Given the description of an element on the screen output the (x, y) to click on. 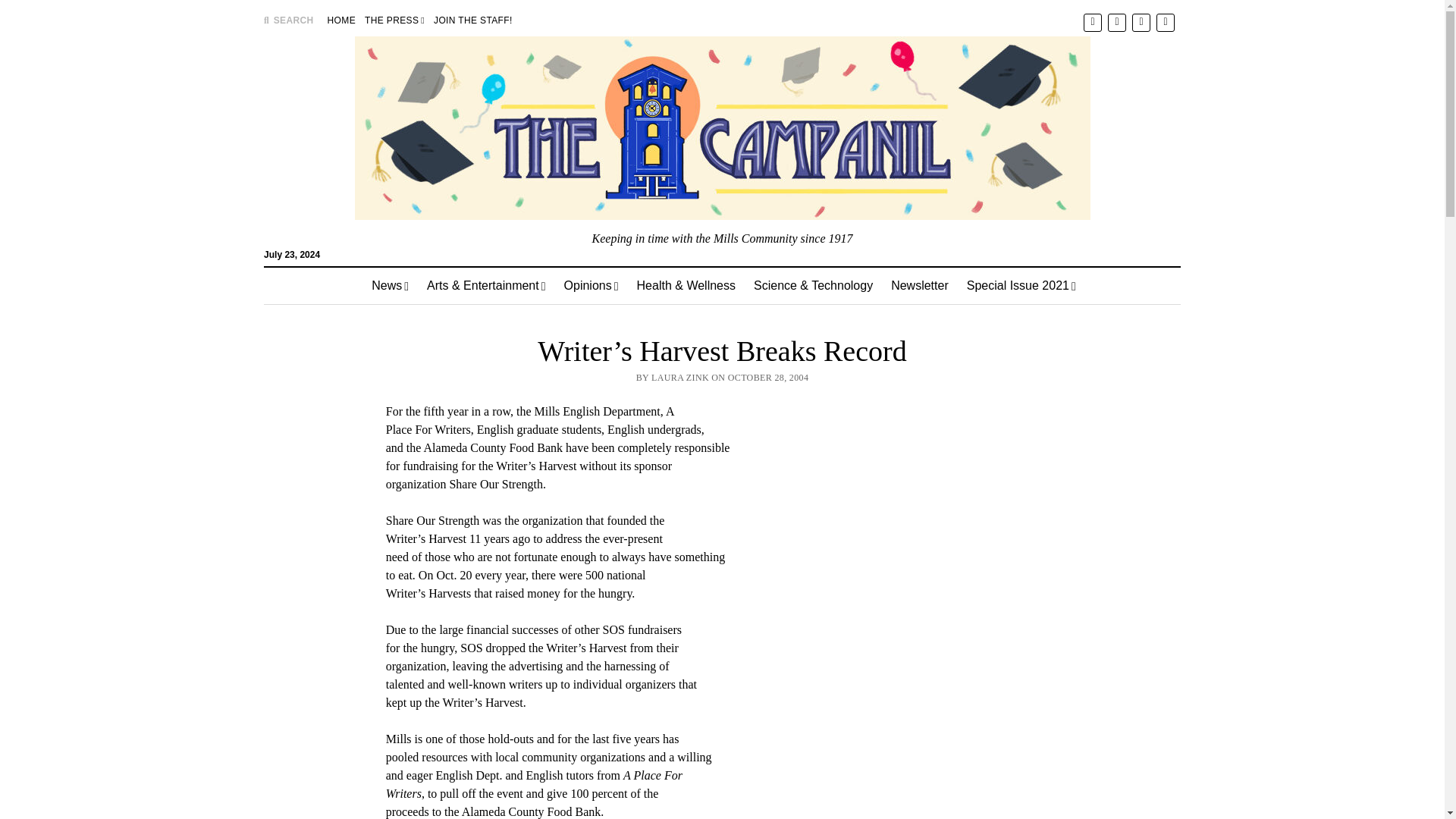
HOME (341, 20)
Search (945, 129)
News (389, 285)
THE PRESS (395, 20)
SEARCH (288, 20)
email (1165, 21)
Newsletter (920, 285)
JOIN THE STAFF! (472, 20)
instagram (1140, 21)
Opinions (590, 285)
Special Issue 2021 (1021, 285)
twitter (1092, 21)
